Given the description of an element on the screen output the (x, y) to click on. 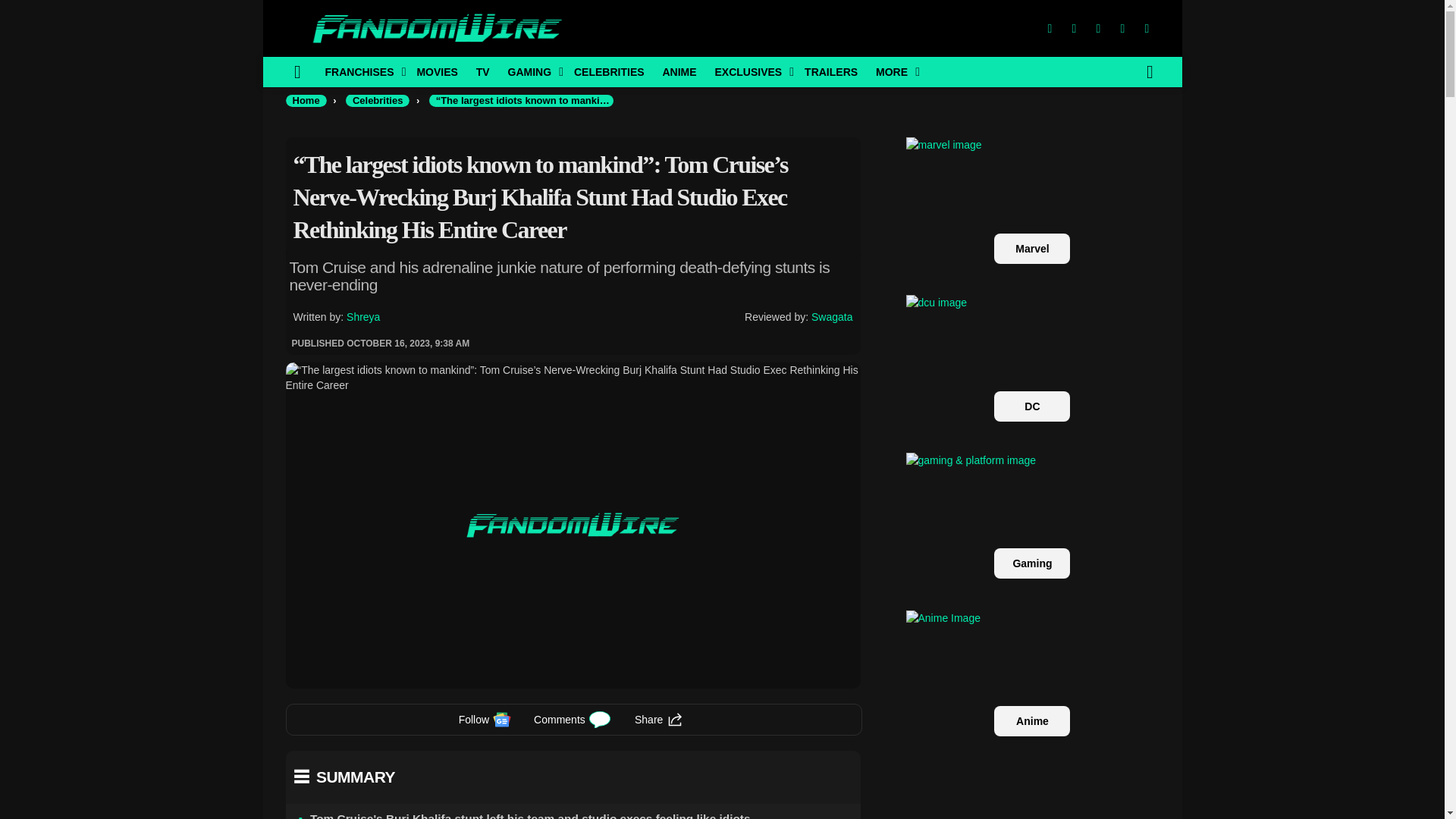
TRAILERS (830, 71)
Menu (296, 71)
TV (482, 71)
YT (1146, 28)
MORE (893, 71)
CELEBRITIES (609, 71)
MOVIES (436, 71)
GAMING (532, 71)
ANIME (678, 71)
Facebook (1048, 28)
FRANCHISES (361, 71)
LinkedIn (1121, 28)
Twitter (1073, 28)
Insta (1097, 28)
EXCLUSIVES (749, 71)
